Given the description of an element on the screen output the (x, y) to click on. 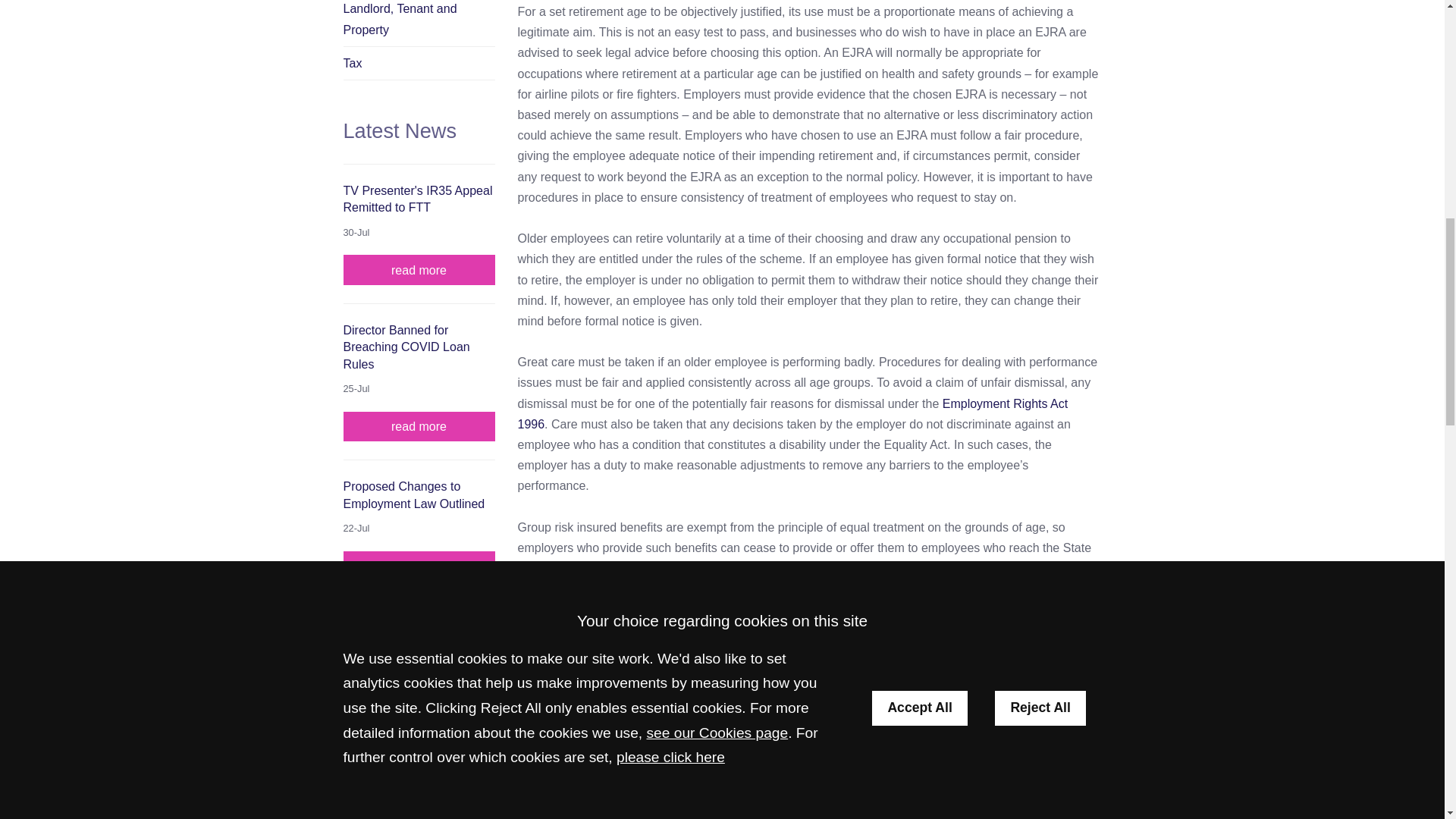
Employment Rights Act 1996 (791, 413)
Tax (418, 63)
Landlord, Tenant and Property (418, 22)
